Given the description of an element on the screen output the (x, y) to click on. 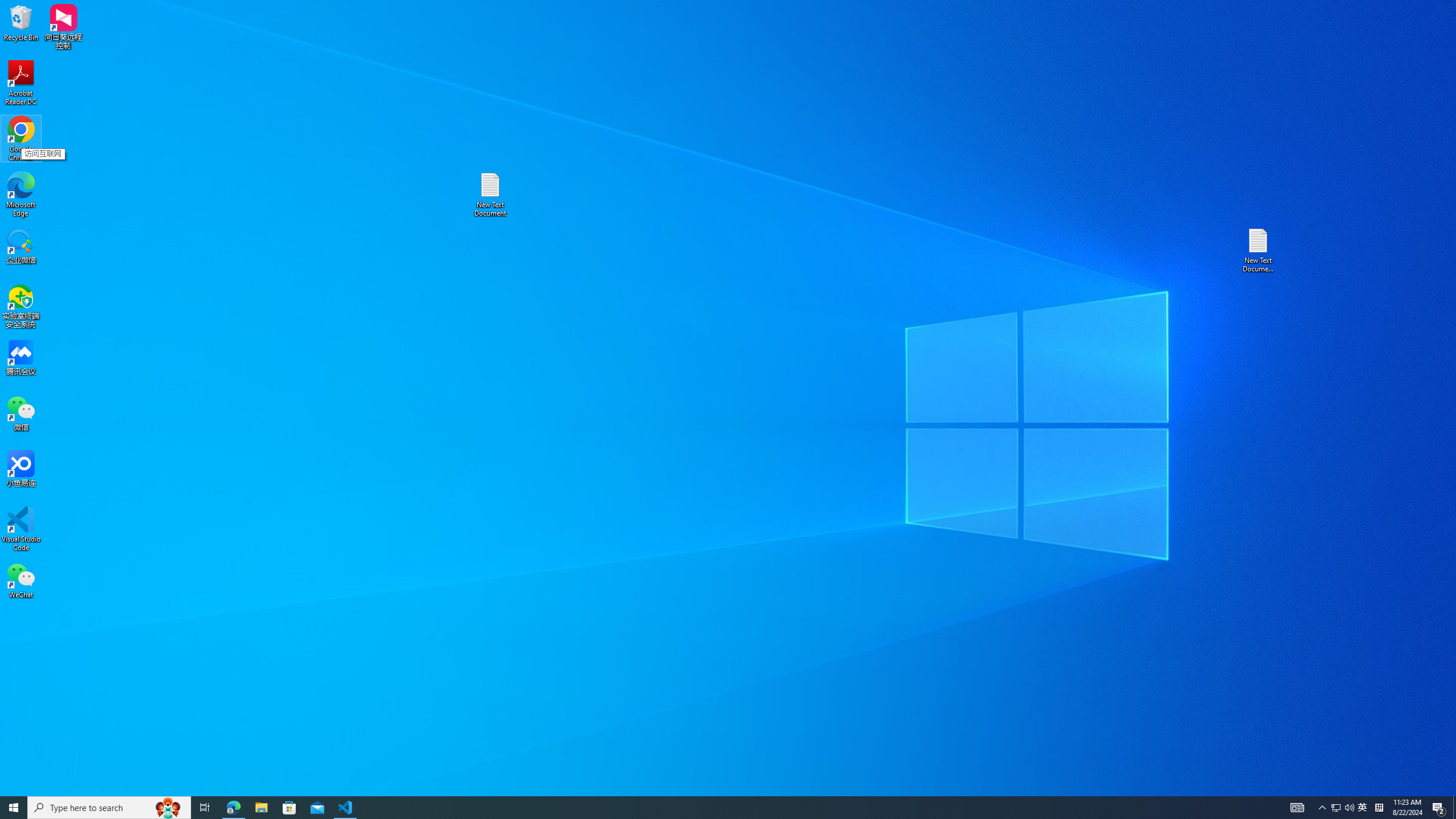
Search highlights icon opens search home window (167, 807)
Microsoft Edge - 1 running window (1335, 807)
Tray Input Indicator - Chinese (Simplified, China) (233, 807)
New Text Document (2) (1378, 807)
Start (1258, 250)
Running applications (13, 807)
Q2790: 100% (707, 807)
Microsoft Store (1349, 807)
Task View (289, 807)
WeChat (204, 807)
